Given the description of an element on the screen output the (x, y) to click on. 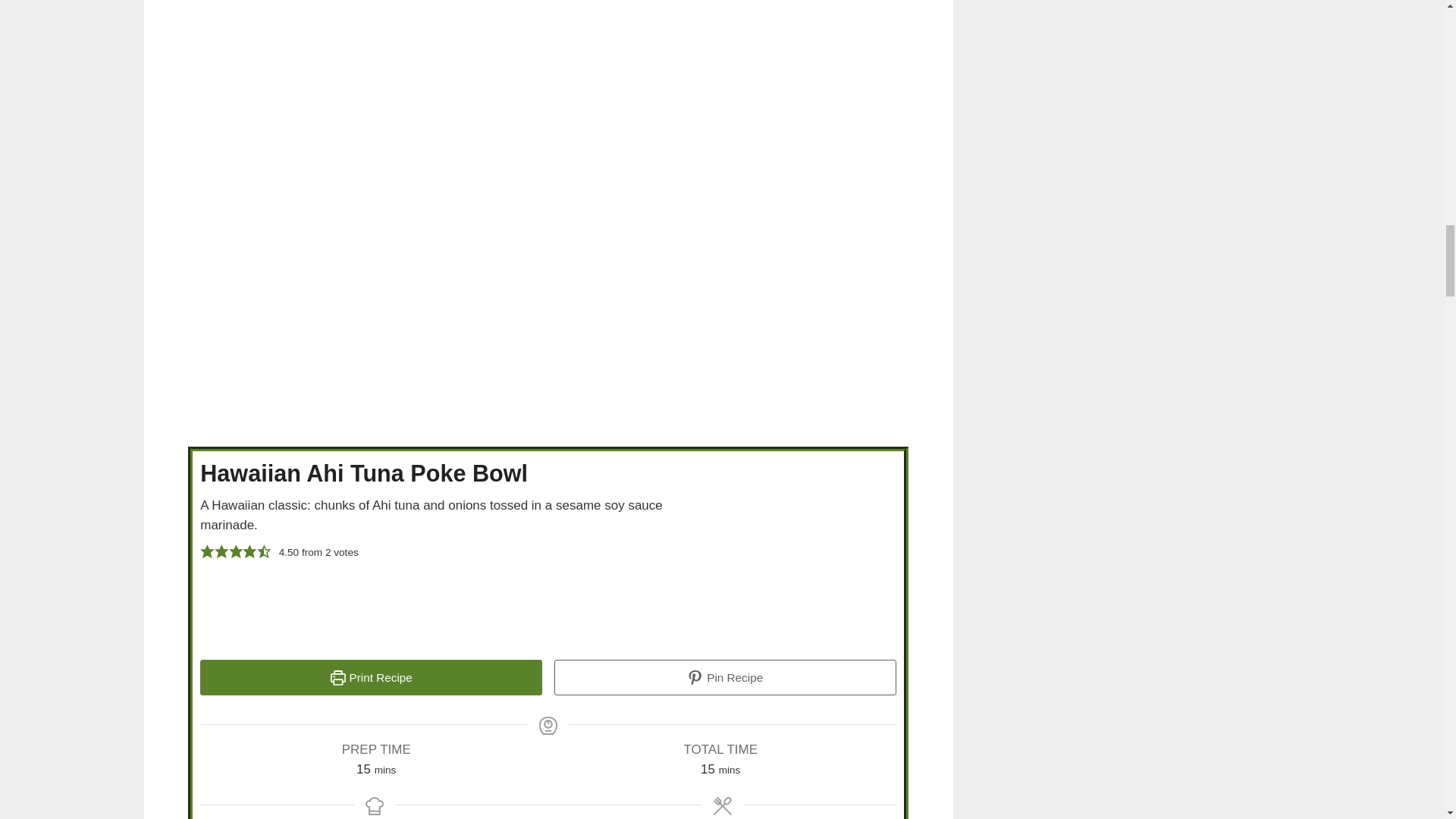
Print Recipe (370, 678)
Pin Recipe (725, 678)
